Given the description of an element on the screen output the (x, y) to click on. 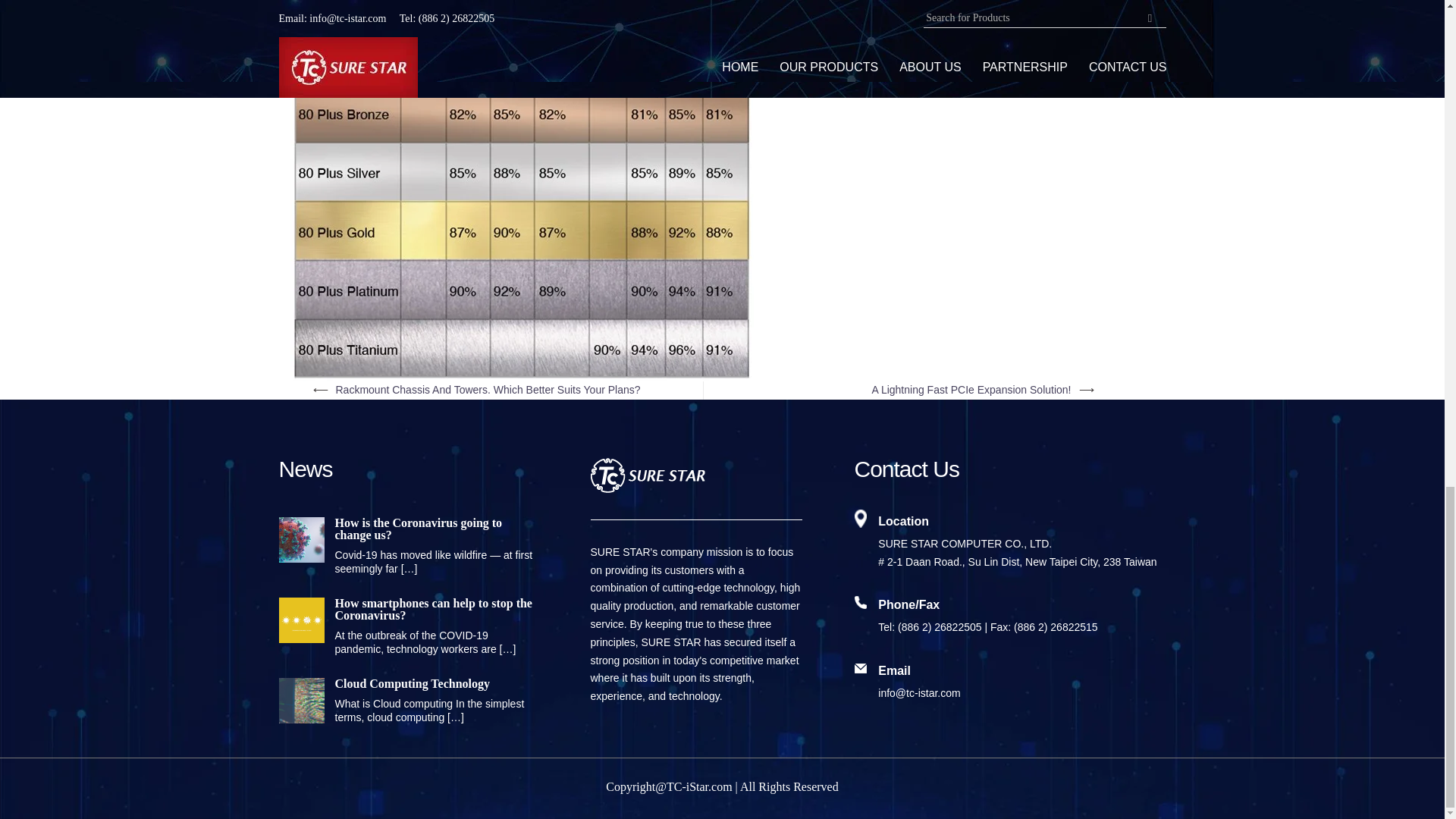
Cloud Computing Technology (405, 684)
How is the Coronavirus going to change us? (405, 528)
How smartphones can help to stop the Coronavirus? (405, 609)
Rackmount Chassis And Towers. Which Better Suits Your Plans? (487, 389)
A Lightning Fast PCIe Expansion Solution! (970, 389)
